Given the description of an element on the screen output the (x, y) to click on. 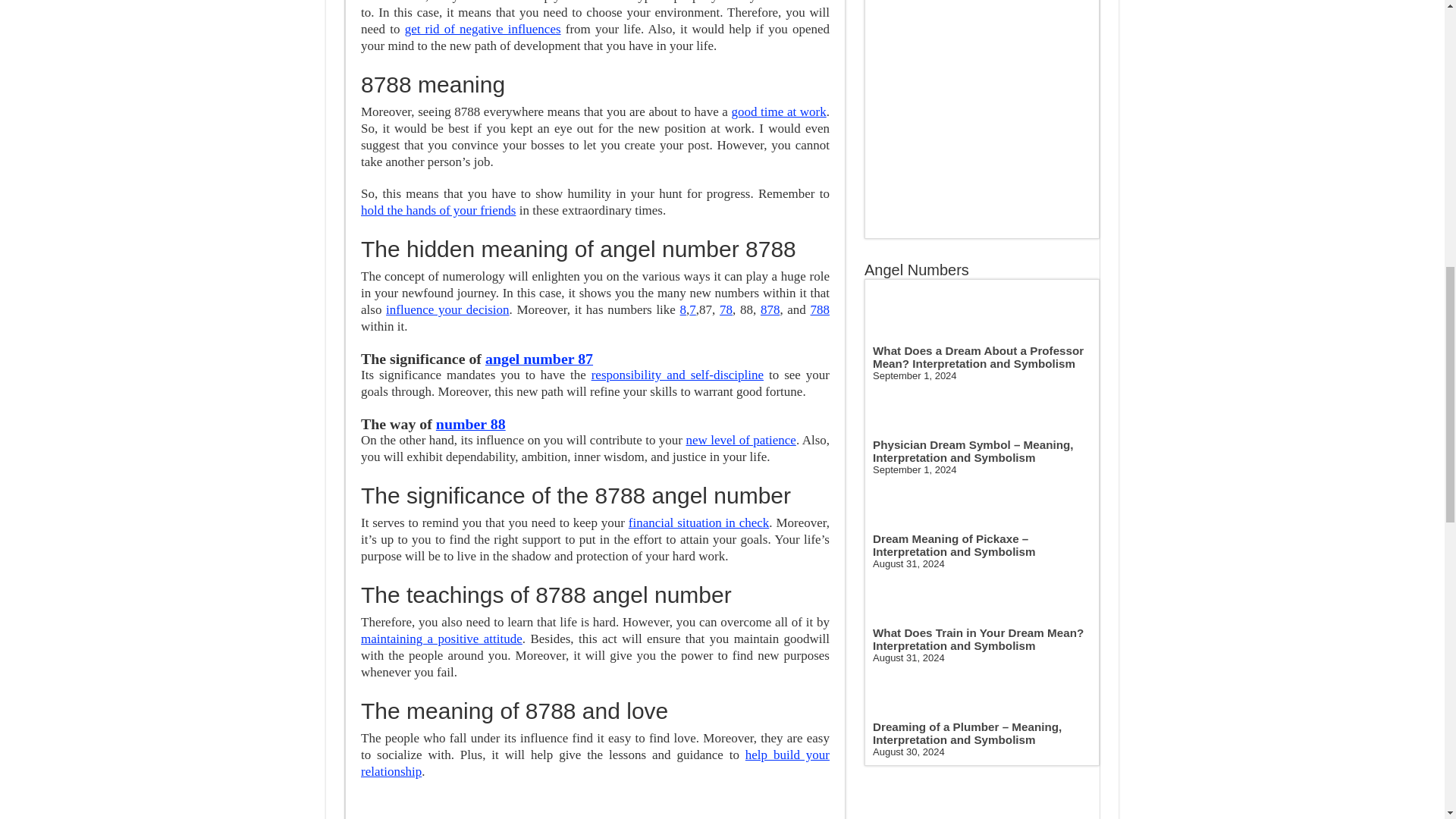
78 (725, 309)
angel number 87 (538, 358)
hold the hands of your friends (438, 210)
get rid of negative influences (482, 29)
influence your decision (446, 309)
maintaining a positive attitude (441, 638)
financial situation in check (698, 522)
good time at work (777, 111)
788 (819, 309)
help build your relationship (595, 762)
